Given the description of an element on the screen output the (x, y) to click on. 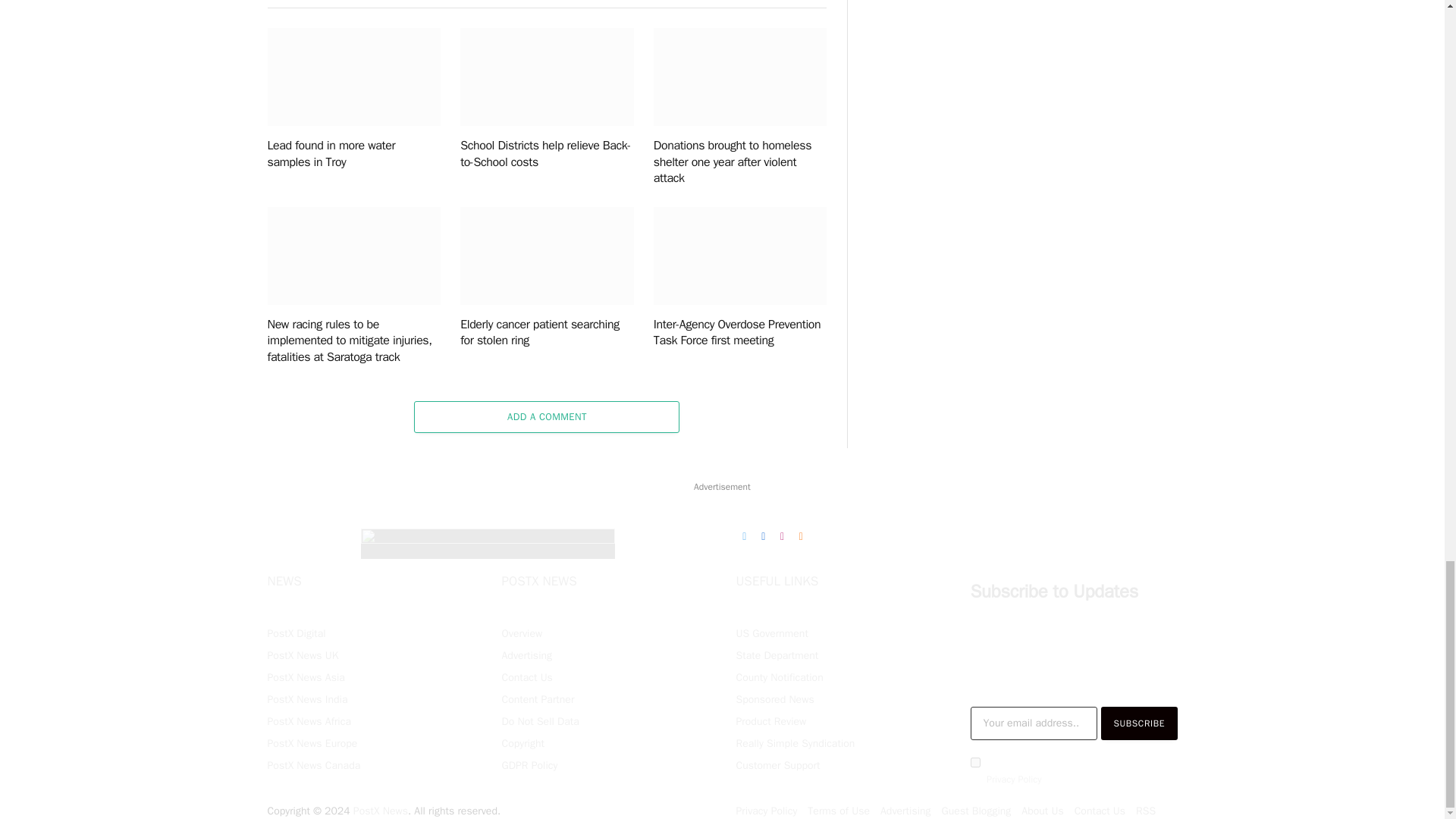
Subscribe (1138, 723)
on (975, 762)
